Given the description of an element on the screen output the (x, y) to click on. 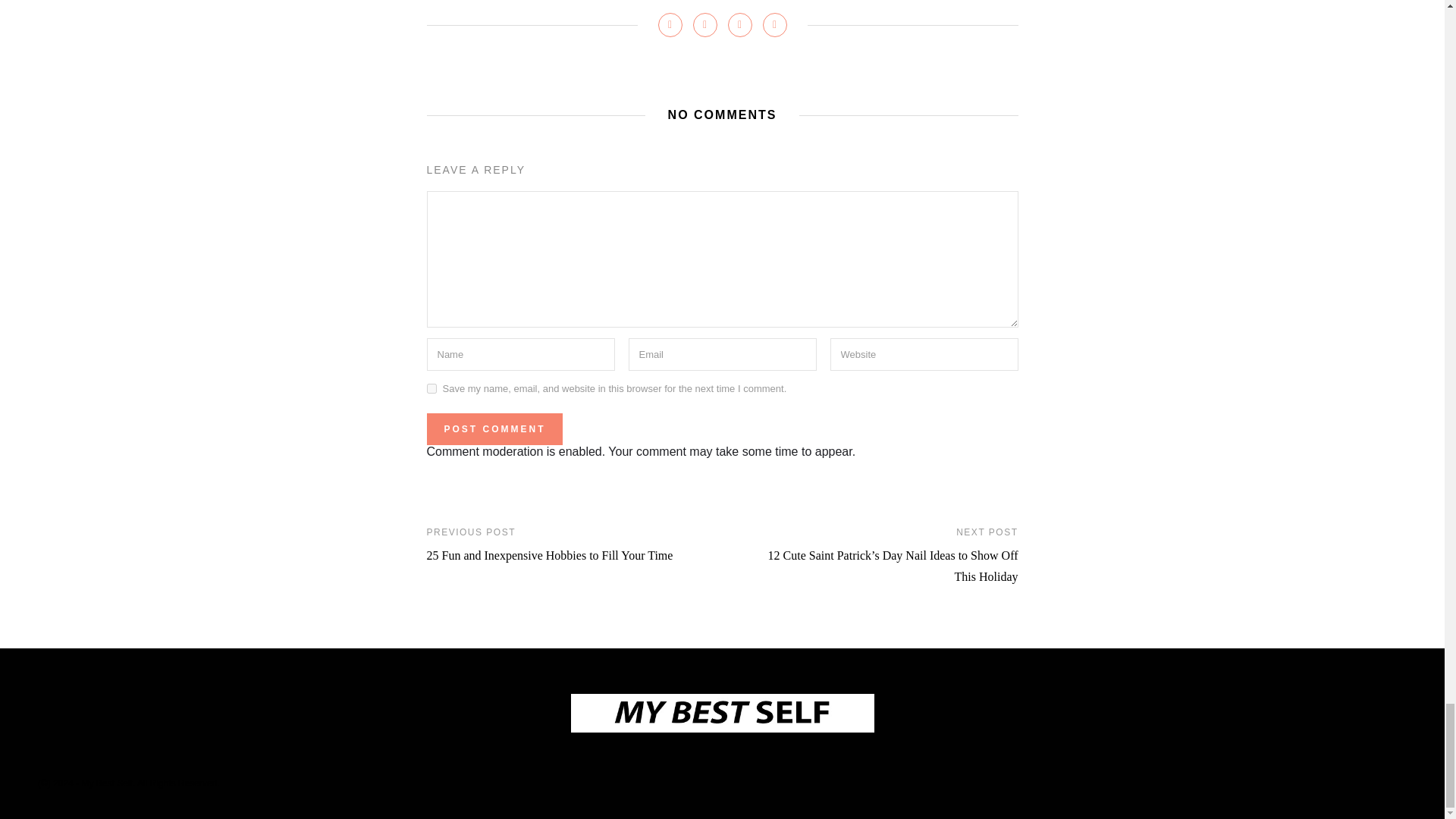
yes (430, 388)
Post Comment (494, 429)
Post Comment (494, 429)
25 Fun and Inexpensive Hobbies to Fill Your Time (549, 554)
